Given the description of an element on the screen output the (x, y) to click on. 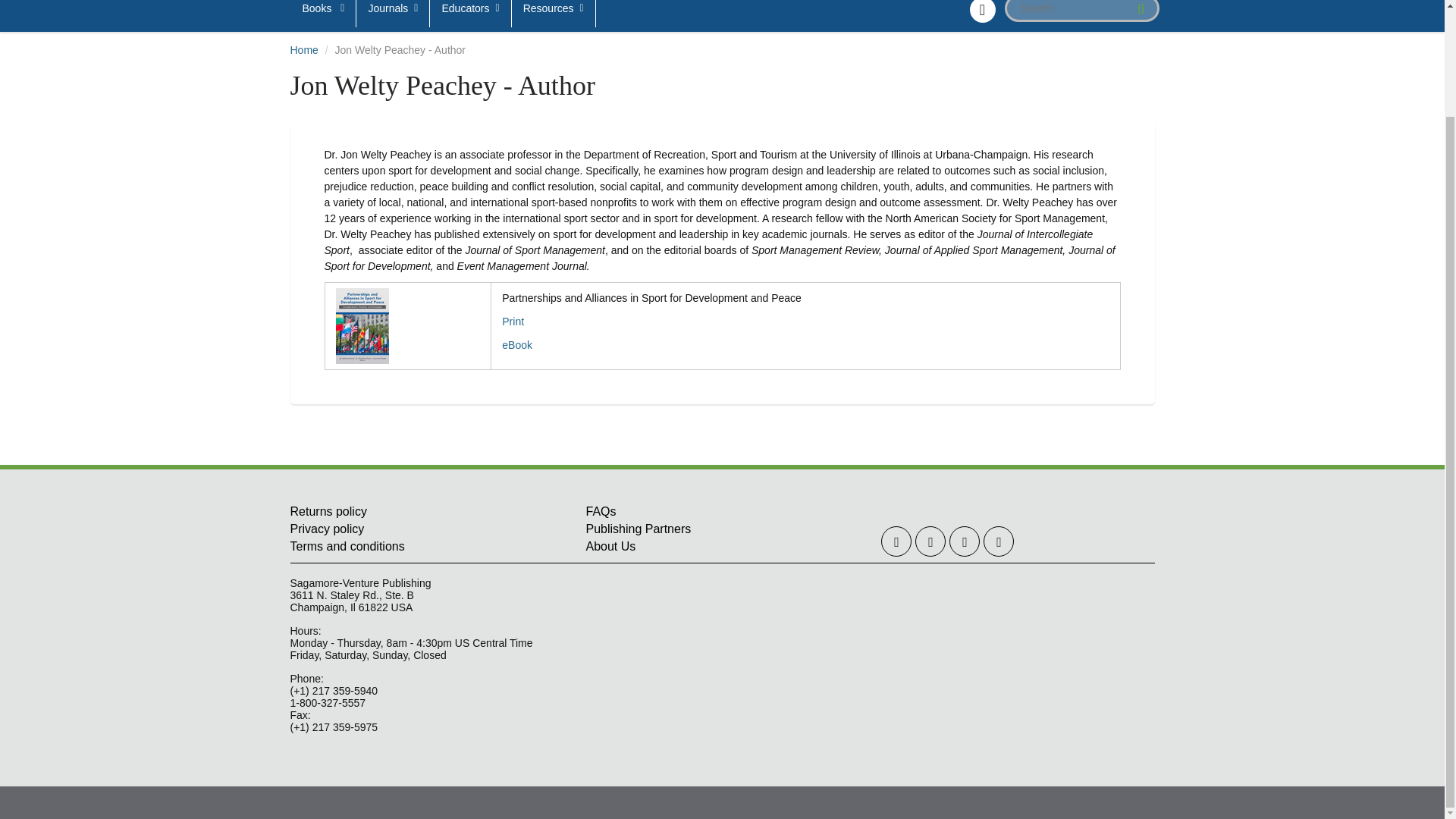
Home (303, 50)
Twitter (895, 541)
YouTube (998, 541)
Instagram (964, 541)
Facebook (929, 541)
Books (323, 13)
